Given the description of an element on the screen output the (x, y) to click on. 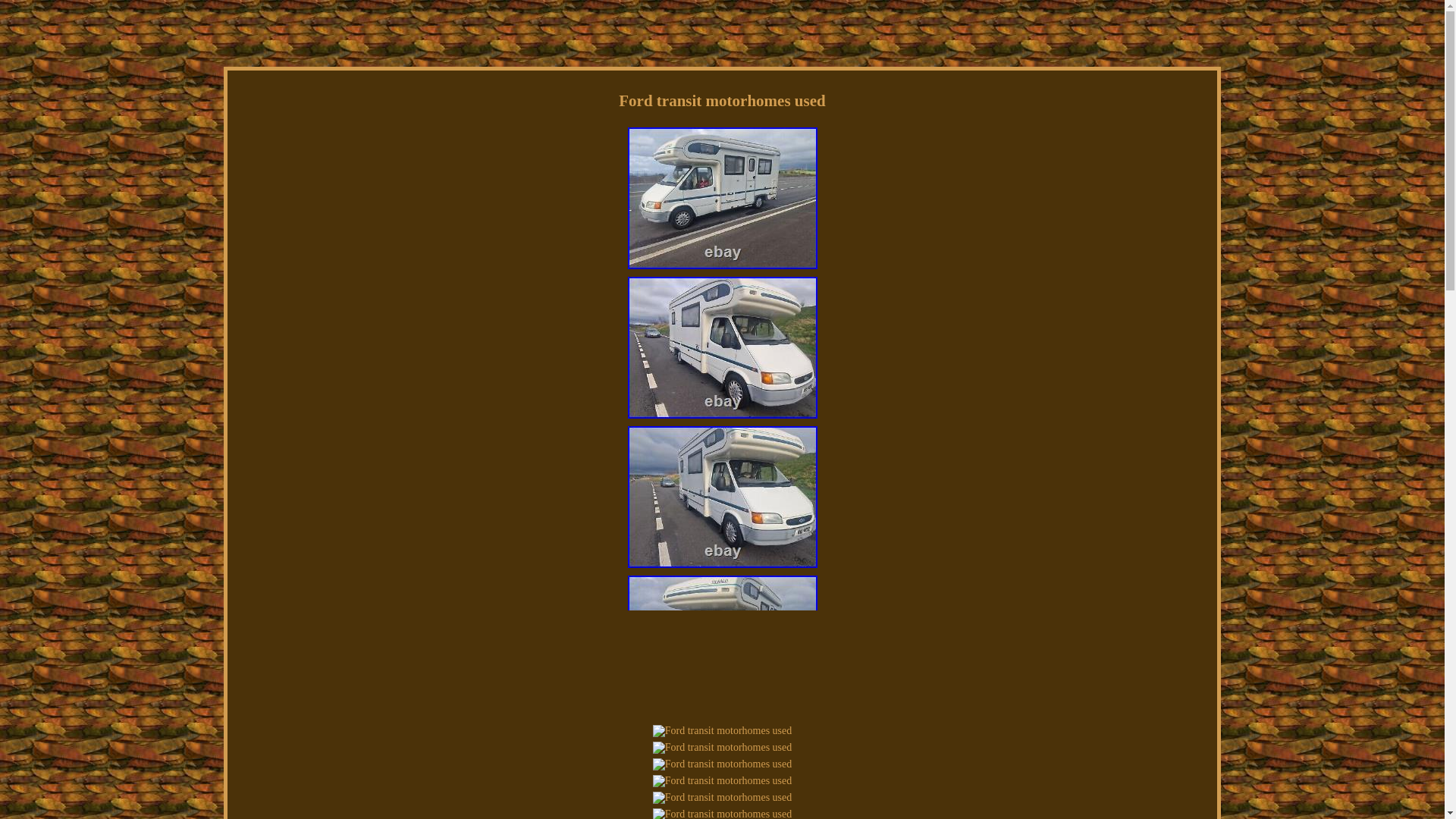
Ford transit motorhomes used (722, 730)
Ford transit motorhomes used (721, 646)
Ford transit motorhomes used (722, 780)
Ford transit motorhomes used (722, 764)
Ford transit motorhomes used (722, 813)
Ford transit motorhomes used (721, 347)
Ford transit motorhomes used (721, 198)
Ford transit motorhomes used (721, 496)
Ford transit motorhomes used (722, 797)
Ford transit motorhomes used (722, 747)
